Given the description of an element on the screen output the (x, y) to click on. 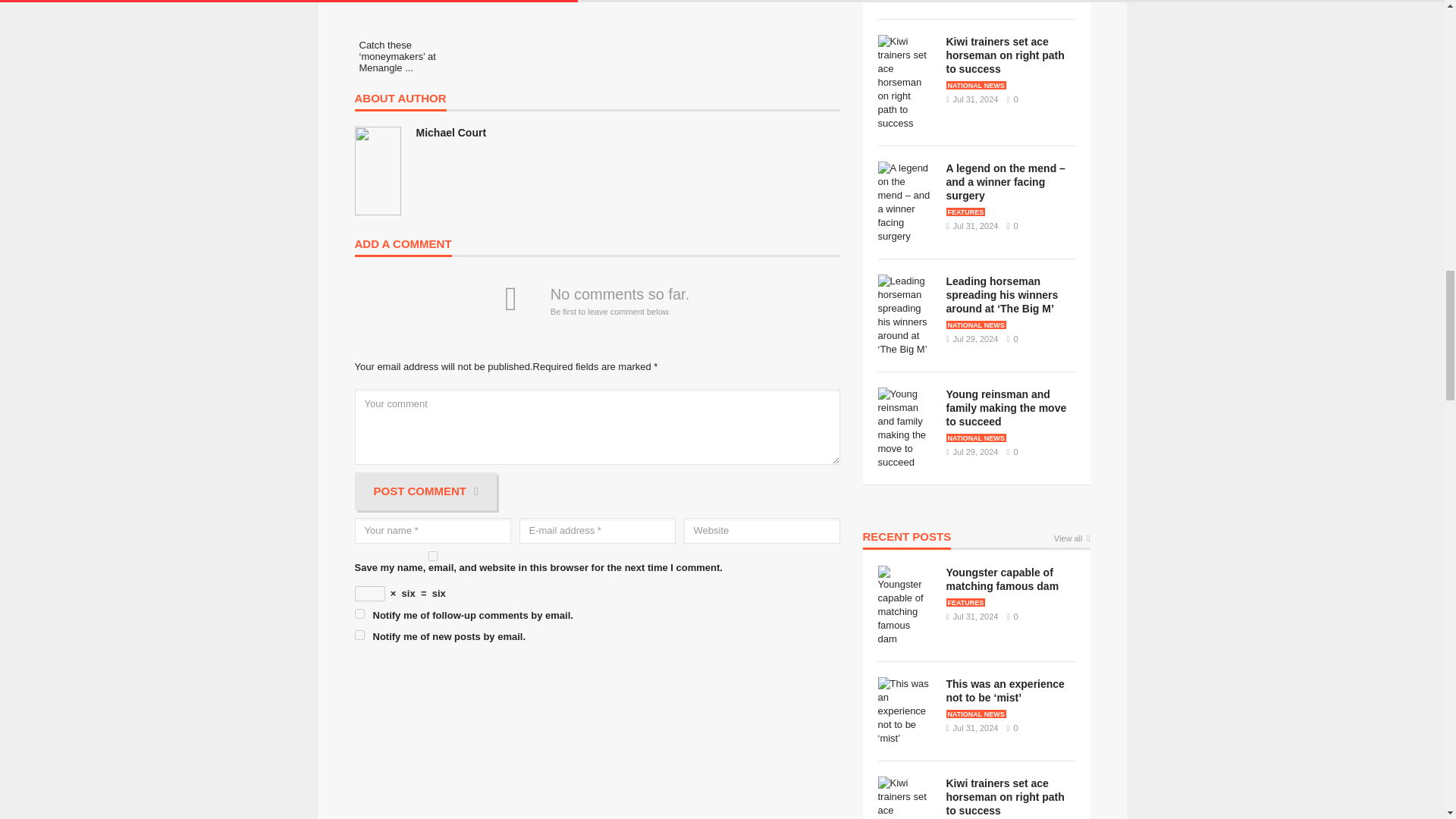
yes (433, 556)
subscribe (360, 614)
subscribe (360, 634)
